Given the description of an element on the screen output the (x, y) to click on. 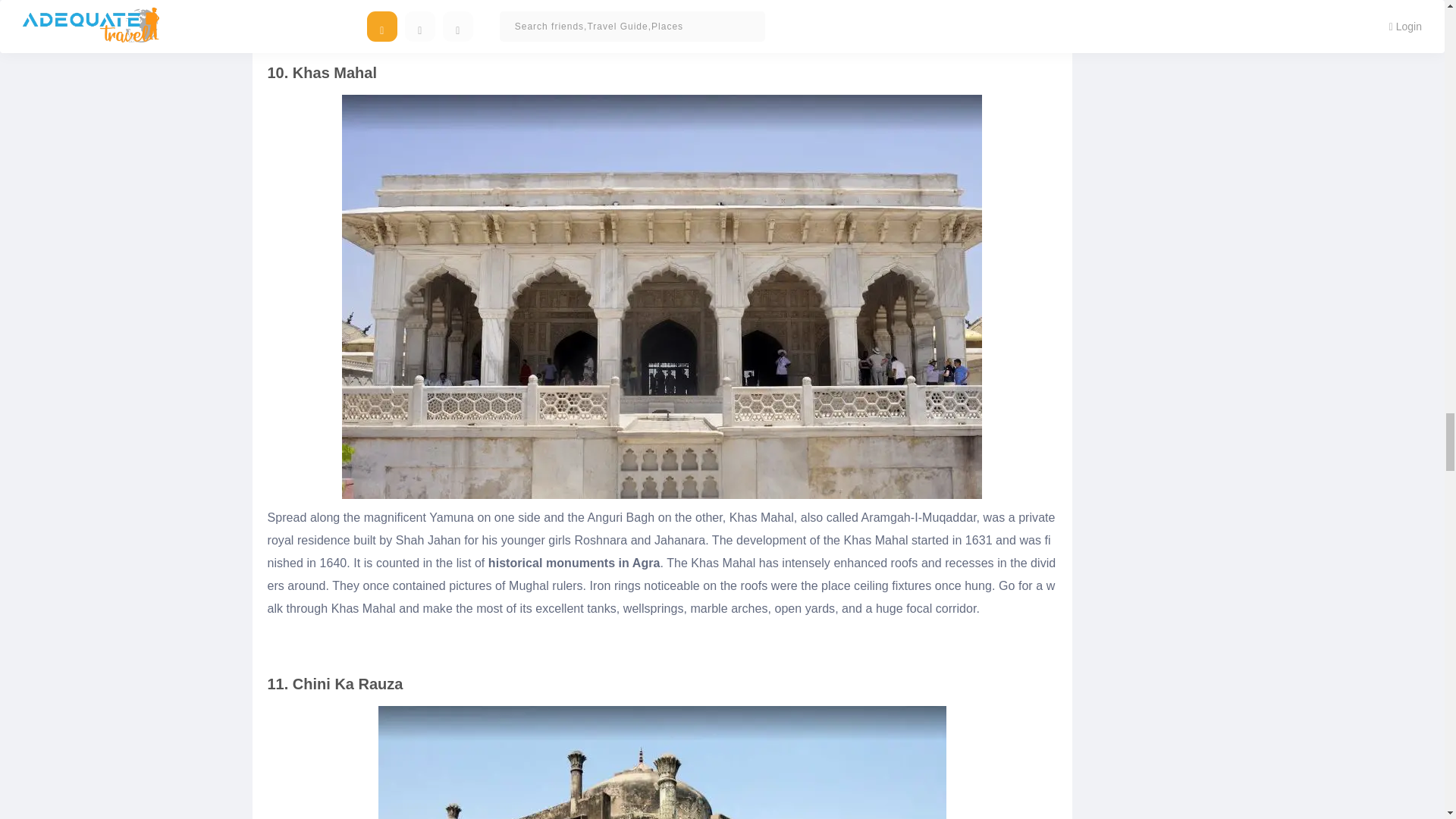
Why Agra is Famous for (391, 46)
